Given the description of an element on the screen output the (x, y) to click on. 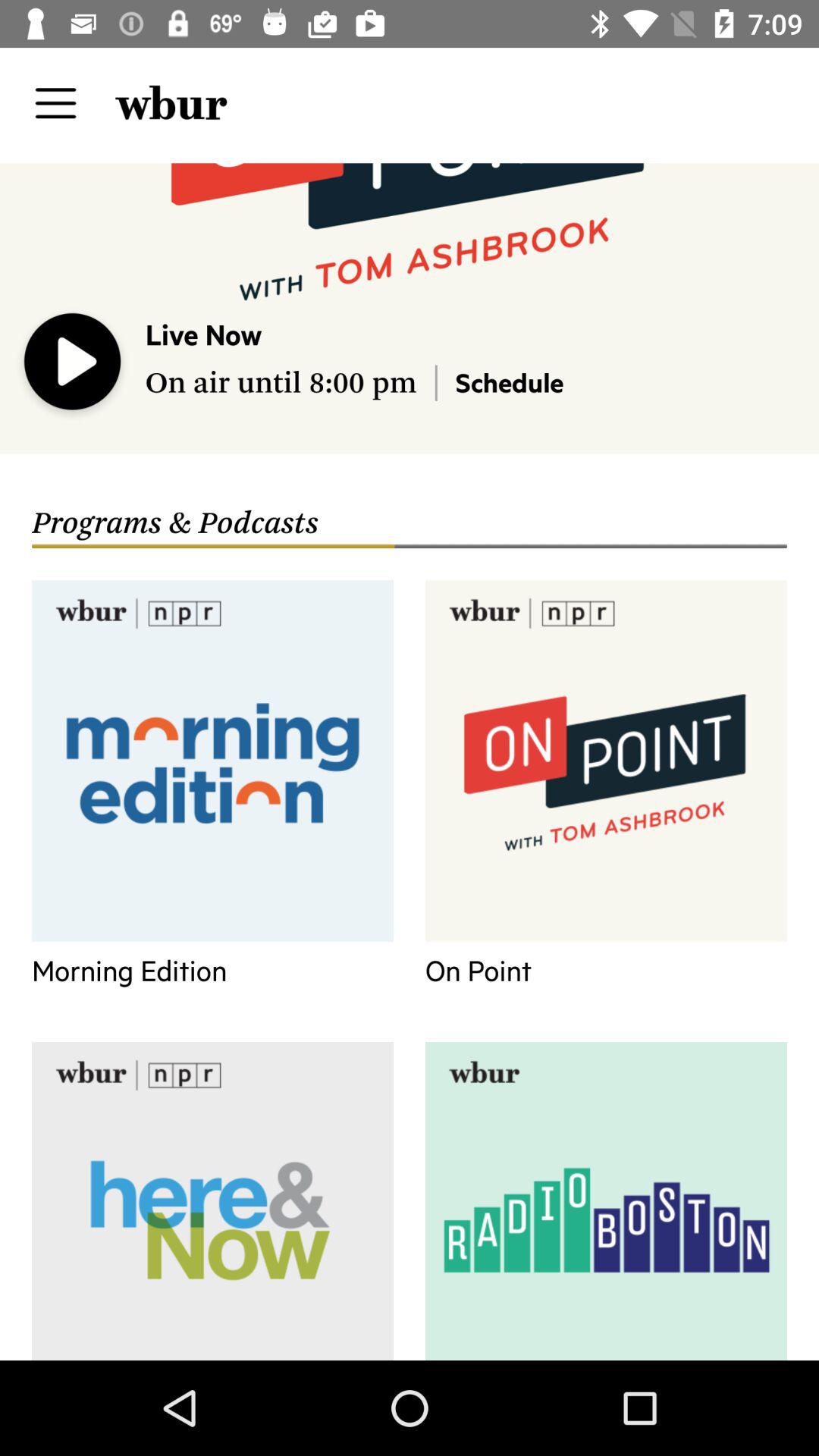
playing now (72, 365)
